Given the description of an element on the screen output the (x, y) to click on. 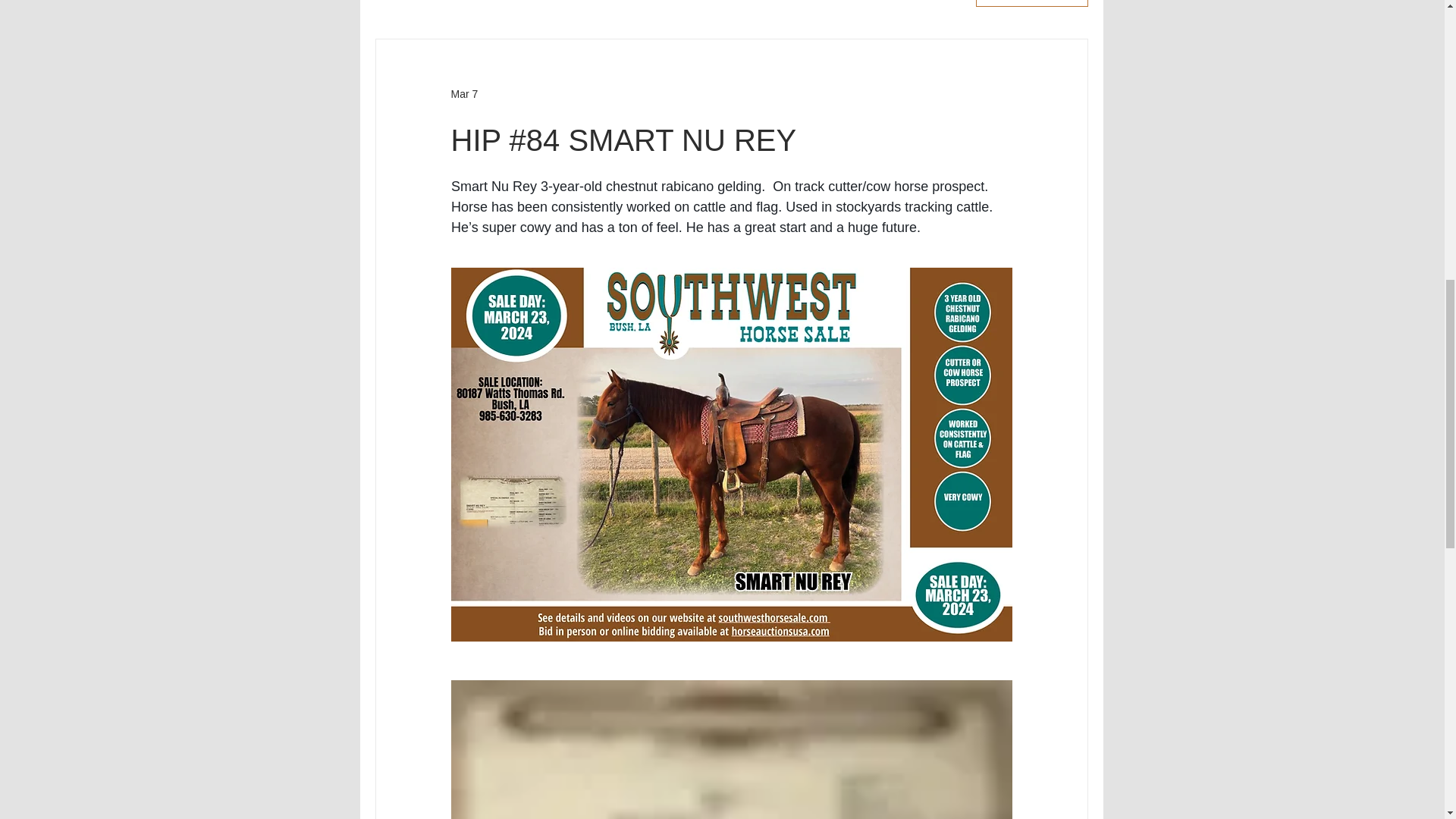
Mar 7 (463, 93)
